Given the description of an element on the screen output the (x, y) to click on. 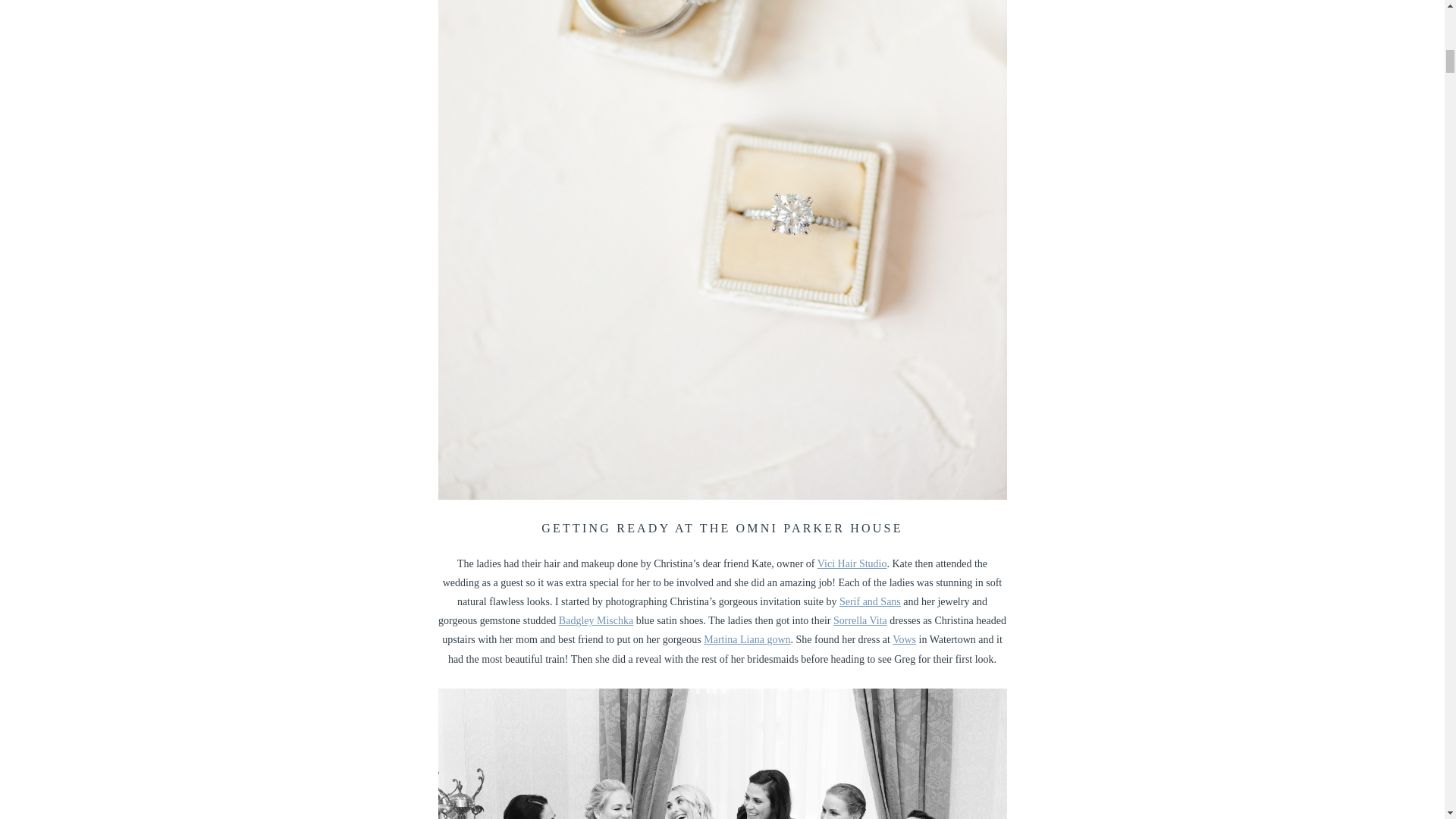
Martina Liana gown (746, 639)
Vows (903, 639)
Serif and Sans (870, 601)
Vici Hair Studio (851, 563)
Badgley Mischka (596, 620)
Sorrella Vita (859, 620)
